Given the description of an element on the screen output the (x, y) to click on. 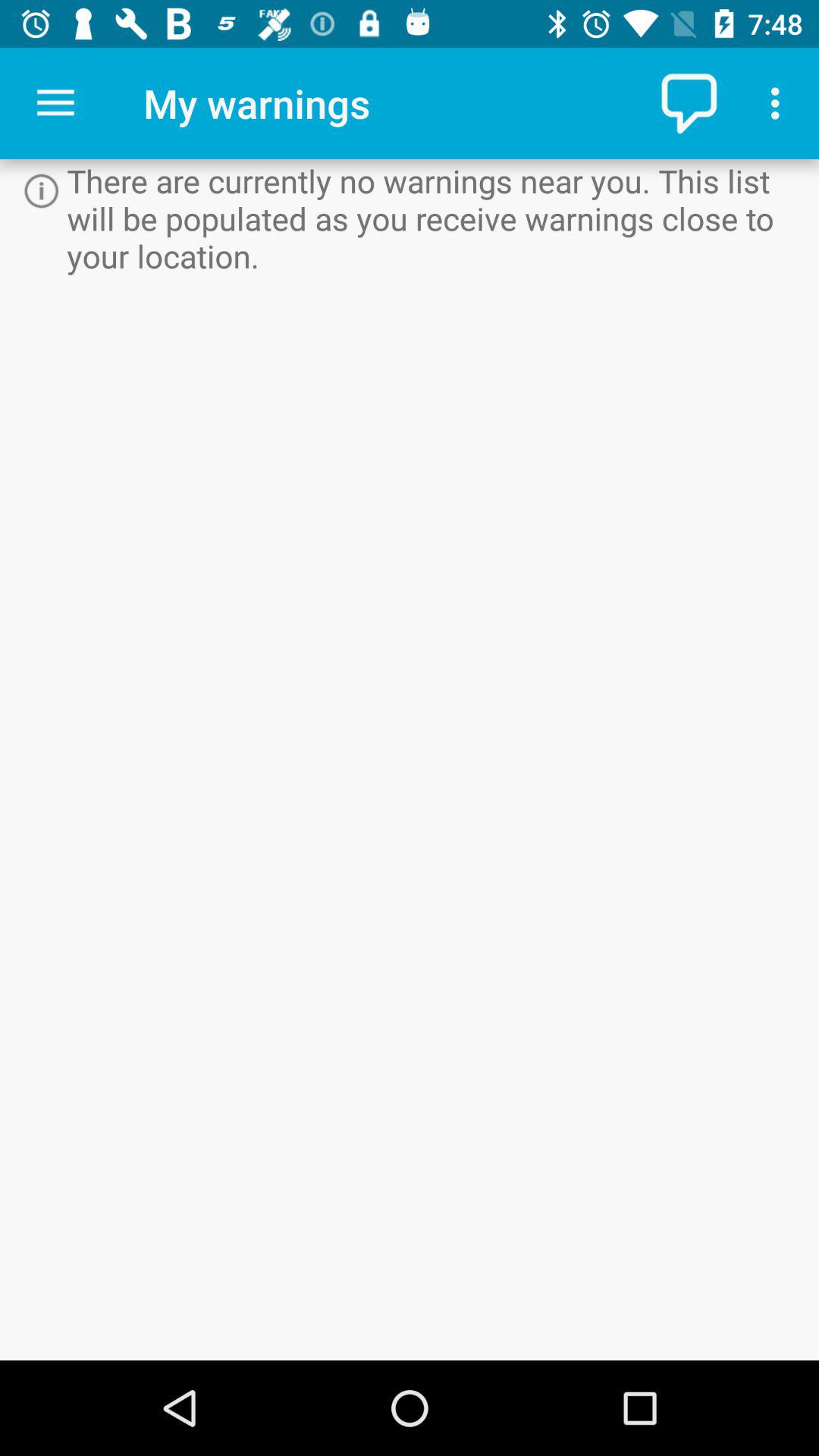
turn on item above the there are currently (691, 103)
